Given the description of an element on the screen output the (x, y) to click on. 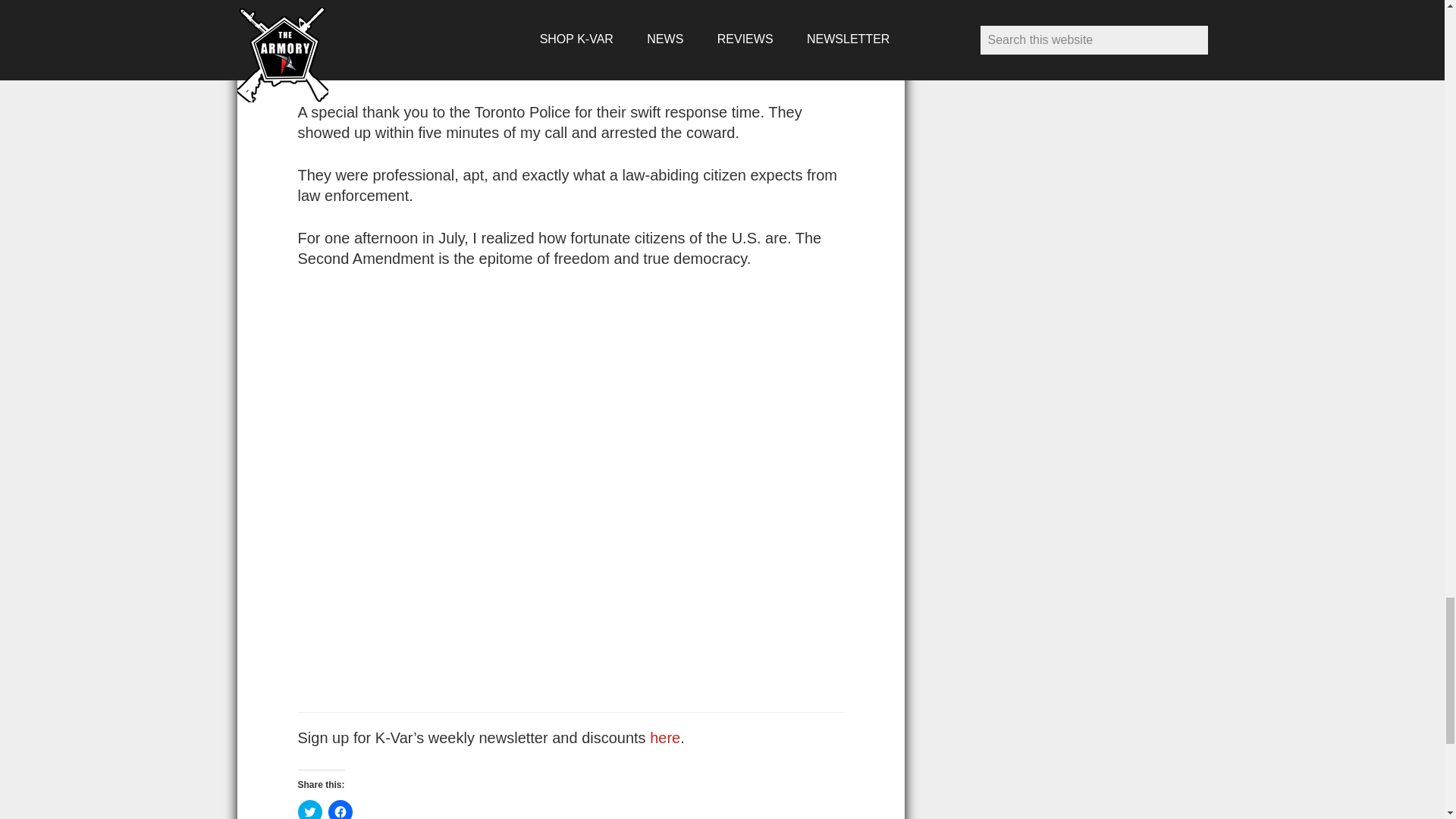
Click to share on Twitter (309, 809)
here (664, 737)
Click to share on Facebook (339, 809)
